Given the description of an element on the screen output the (x, y) to click on. 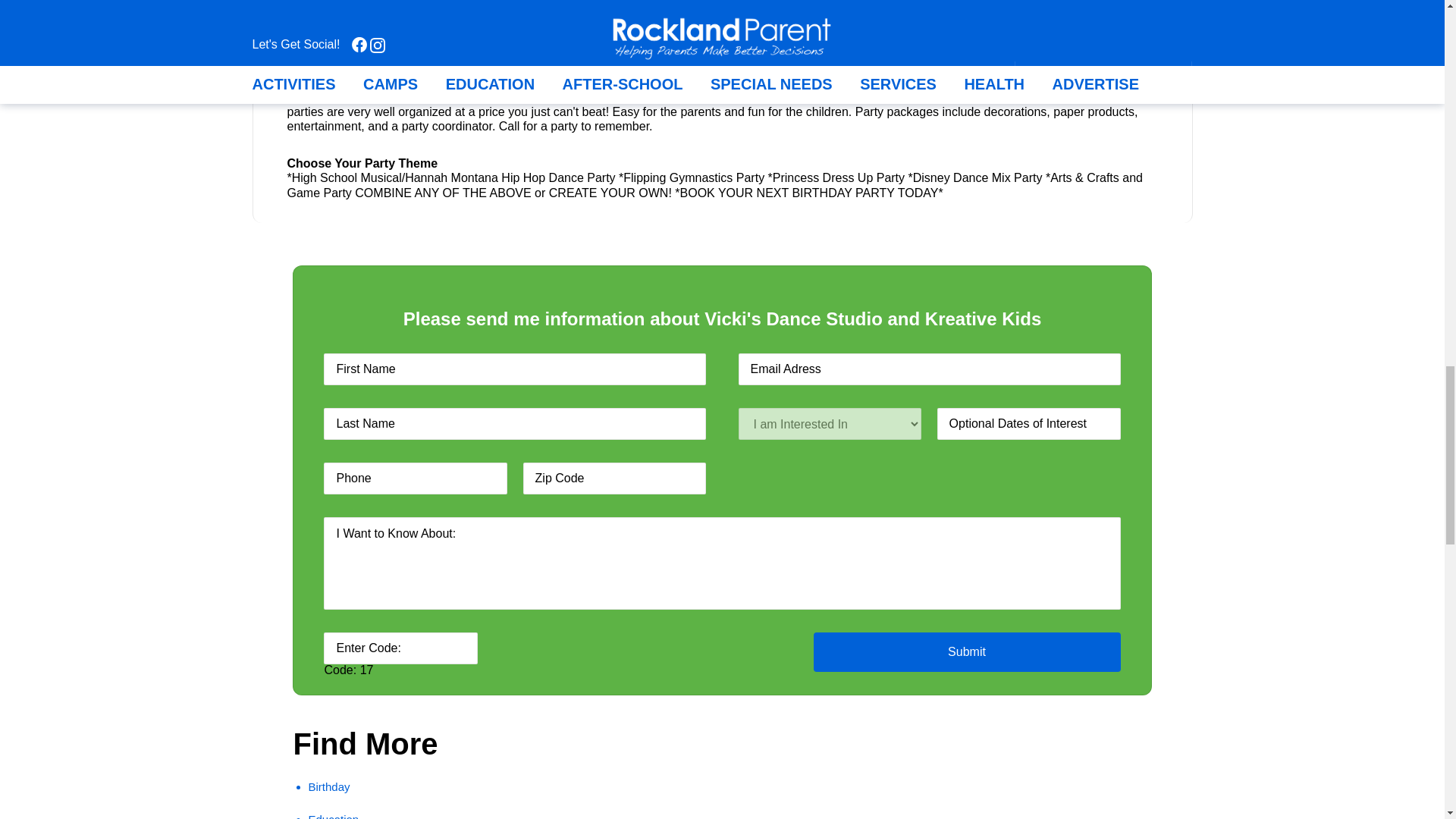
Submit (965, 651)
Education (332, 816)
Birthday (328, 786)
